Given the description of an element on the screen output the (x, y) to click on. 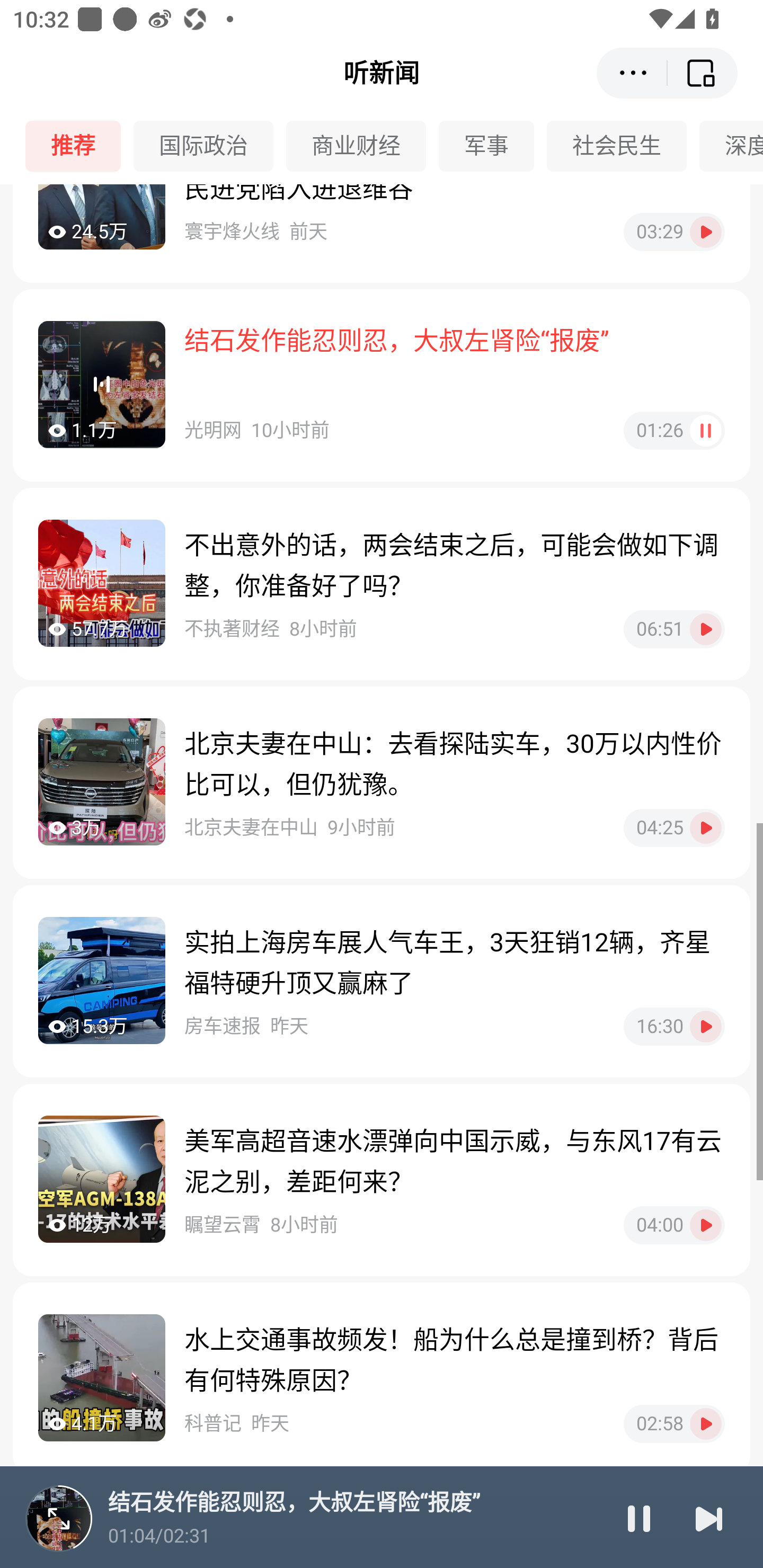
更多 (631, 72)
返回 (702, 72)
推荐 (79, 146)
国际政治 (209, 146)
商业财经 (362, 146)
军事 (492, 146)
社会民生 (623, 146)
24.5万 台岛军头跳出来，给解放军划红线，专家坦言：民进党陷入进退维谷 寰宇烽火线前天 03:29 (381, 233)
03:29 (673, 231)
1.1万 结石发作能忍则忍，大叔左肾险“报废” 光明网10小时前 01:27 (381, 384)
01:27 (673, 430)
06:51 (673, 629)
04:25 (673, 827)
15.3万 实拍上海房车展人气车王，3天狂销12辆，齐星福特硬升顶又赢麻了 房车速报昨天 16:30 (381, 981)
16:30 (673, 1026)
12万 美军高超音速水漂弹向中国示威，与东风17有云泥之别，差距何来？ 瞩望云霄8小时前 04:00 (381, 1179)
04:00 (673, 1224)
4.1万 水上交通事故频发！船为什么总是撞到桥？背后有何特殊原因？ 科普记昨天 02:58 (381, 1378)
02:58 (673, 1423)
音频播放页 结石发作能忍则忍，大叔左肾险“报废” 01:02/02:31 暂停 下一篇 (381, 1517)
暂停 (638, 1518)
下一篇 (708, 1518)
